Given the description of an element on the screen output the (x, y) to click on. 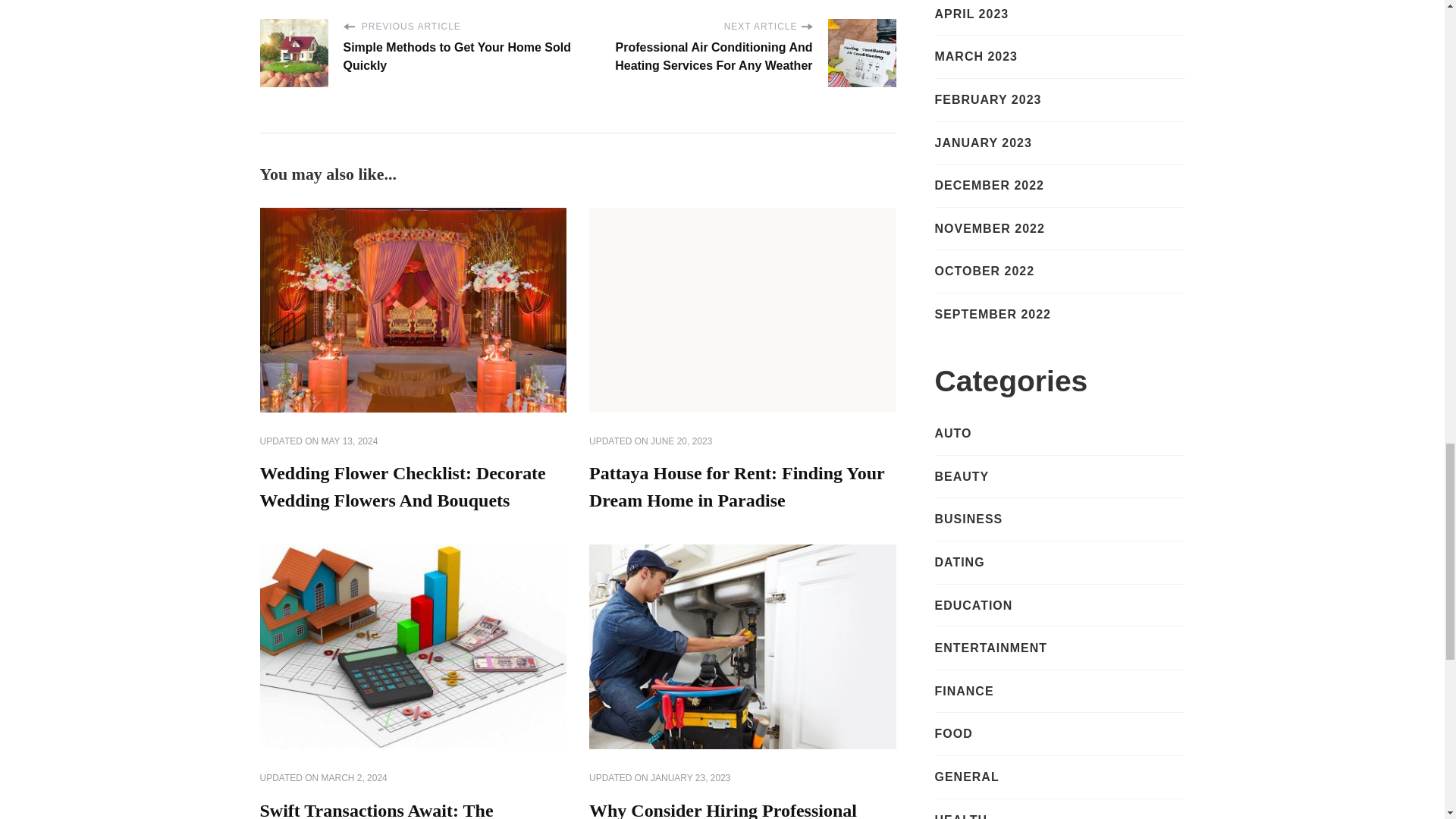
Pattaya House for Rent: Finding Your Dream Home in Paradise (736, 486)
JUNE 20, 2023 (680, 441)
Why Consider Hiring Professional Plumbing Service? (723, 809)
JANUARY 23, 2023 (690, 778)
MARCH 2, 2024 (354, 778)
MAY 13, 2024 (349, 441)
